Given the description of an element on the screen output the (x, y) to click on. 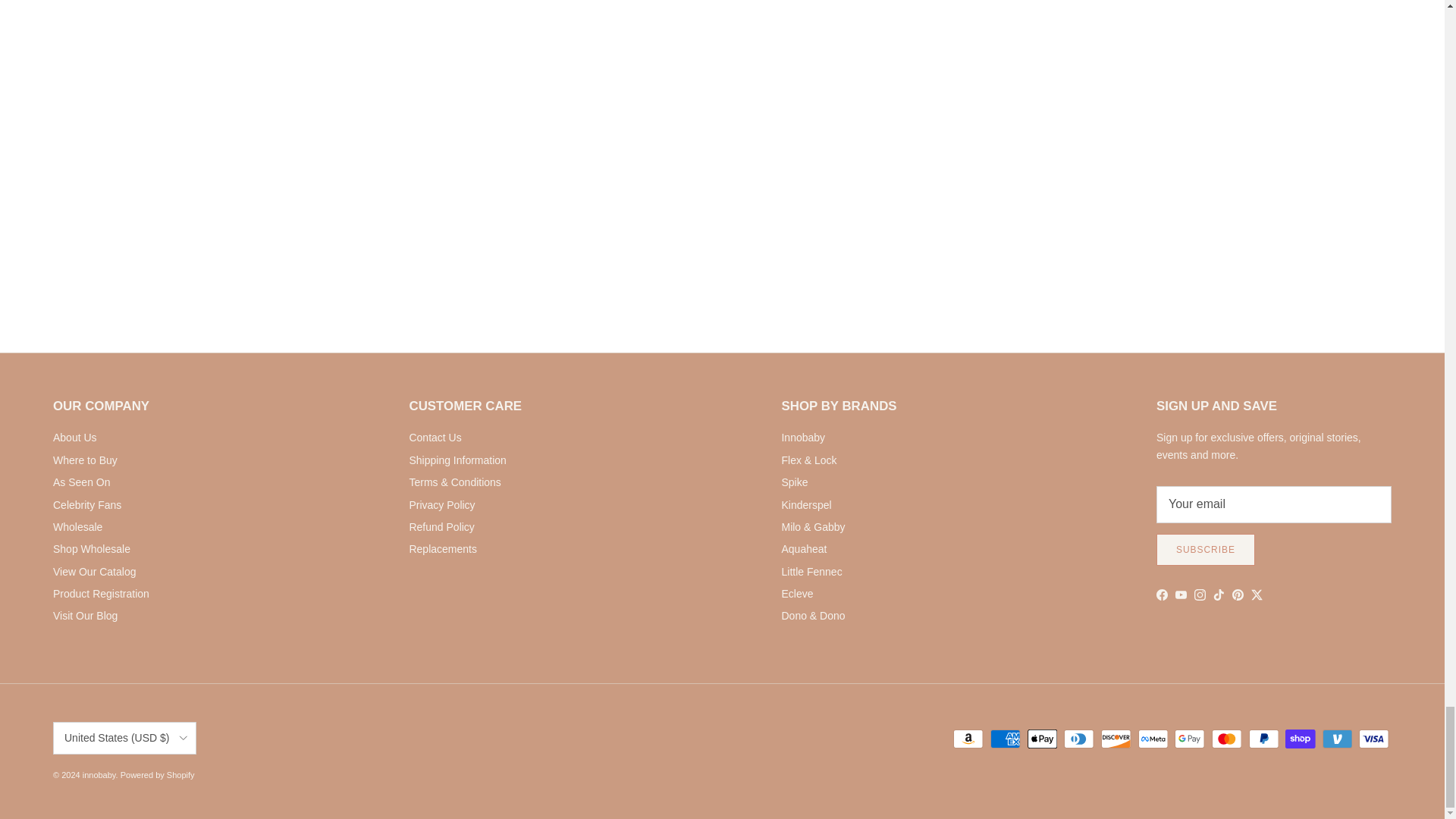
innobaby on Pinterest (1237, 594)
innobaby on Instagram (1199, 594)
innobaby on YouTube (1180, 594)
innobaby on TikTok (1218, 594)
innobaby on Facebook (1161, 594)
innobaby on Twitter (1256, 594)
